Given the description of an element on the screen output the (x, y) to click on. 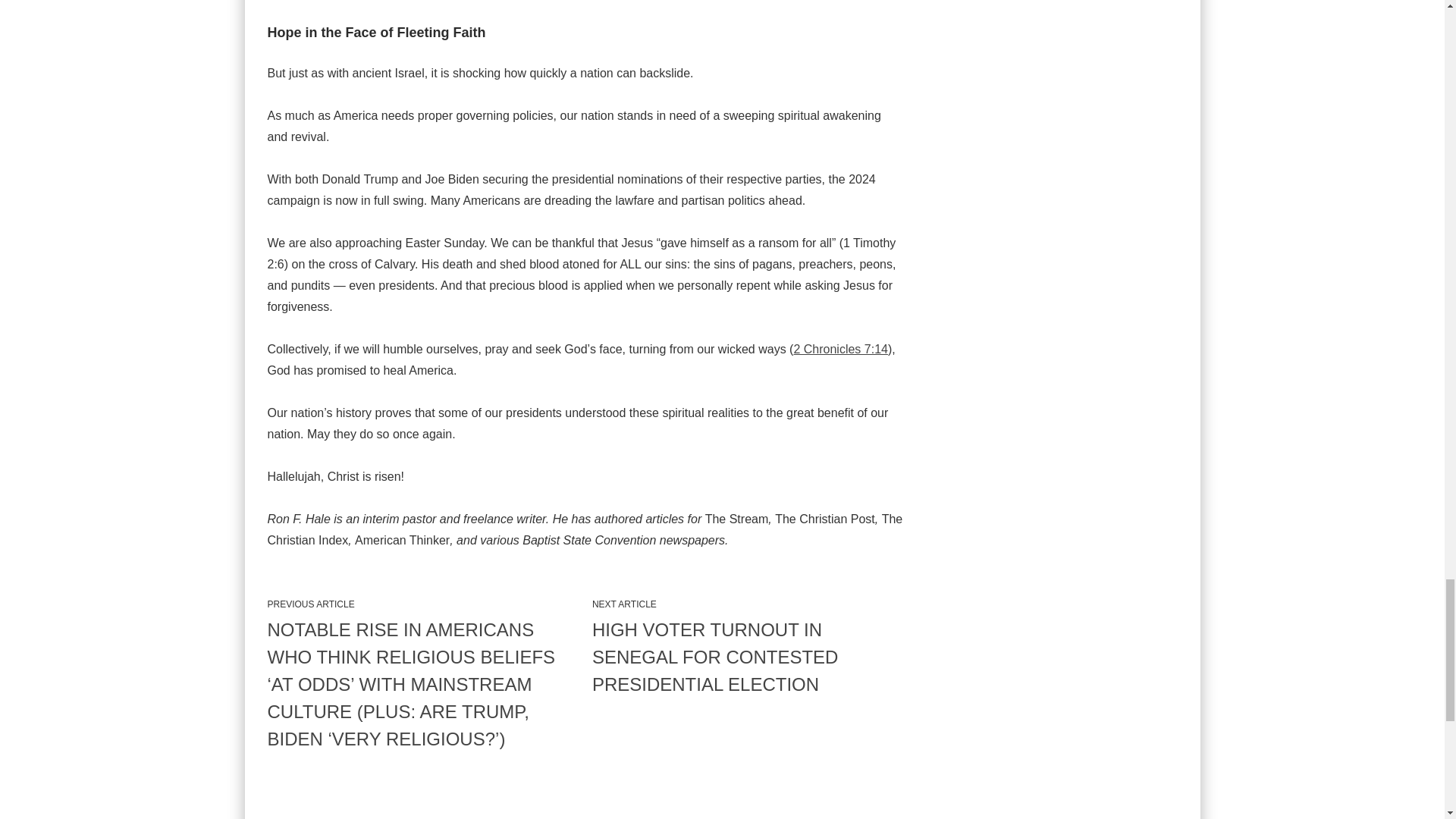
2 Chronicles 7:14 (840, 349)
